Given the description of an element on the screen output the (x, y) to click on. 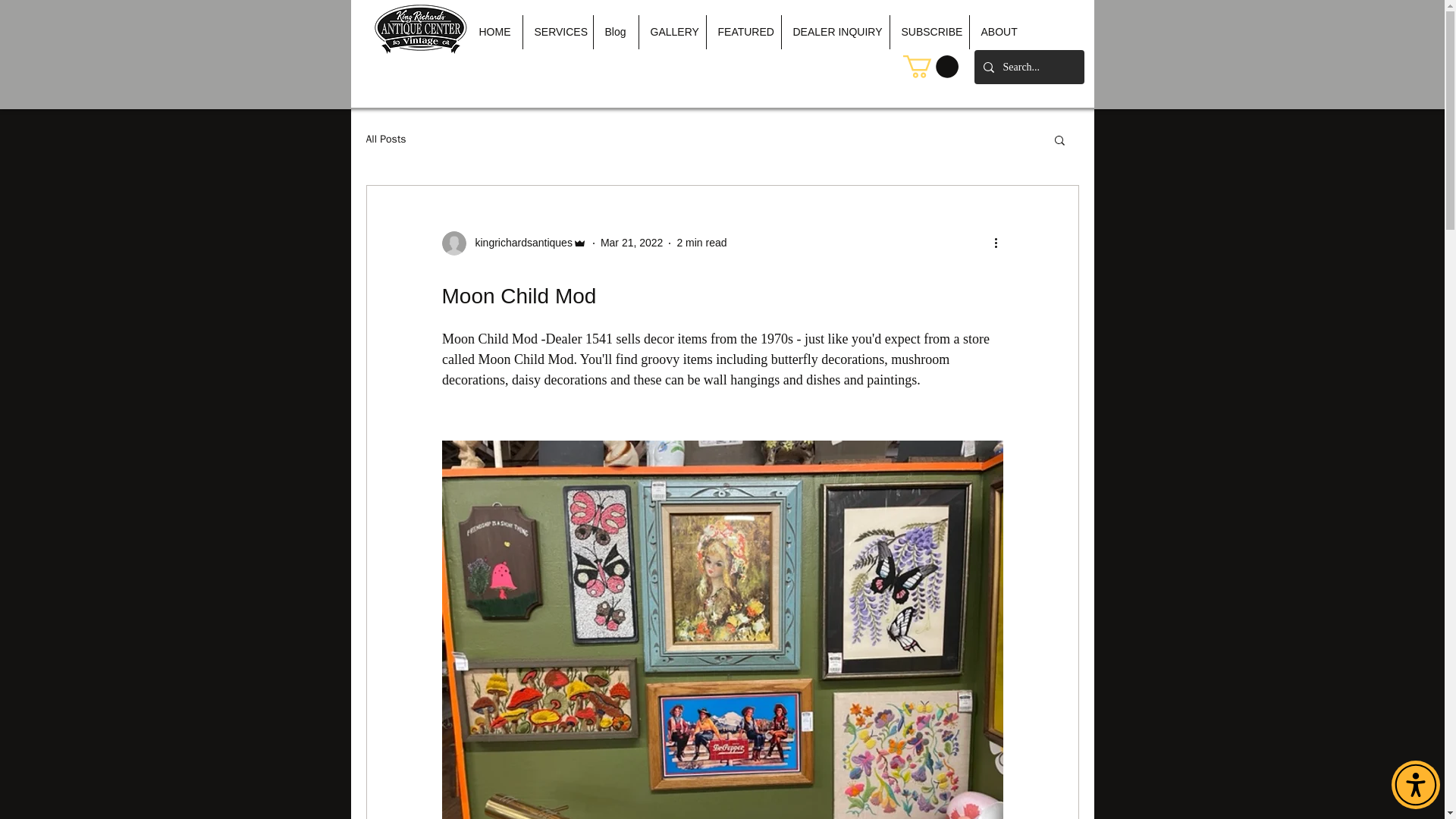
All Posts (385, 139)
Blog (614, 32)
FEATURED (743, 32)
Mar 21, 2022 (631, 242)
ABOUT (998, 32)
Accessibility Menu (1415, 784)
SUBSCRIBE (929, 32)
SERVICES (557, 32)
kingrichardsantiques (513, 242)
2 min read (701, 242)
DEALER INQUIRY (834, 32)
HOME (494, 32)
GALLERY (671, 32)
kingrichardsantiques (518, 242)
